Given the description of an element on the screen output the (x, y) to click on. 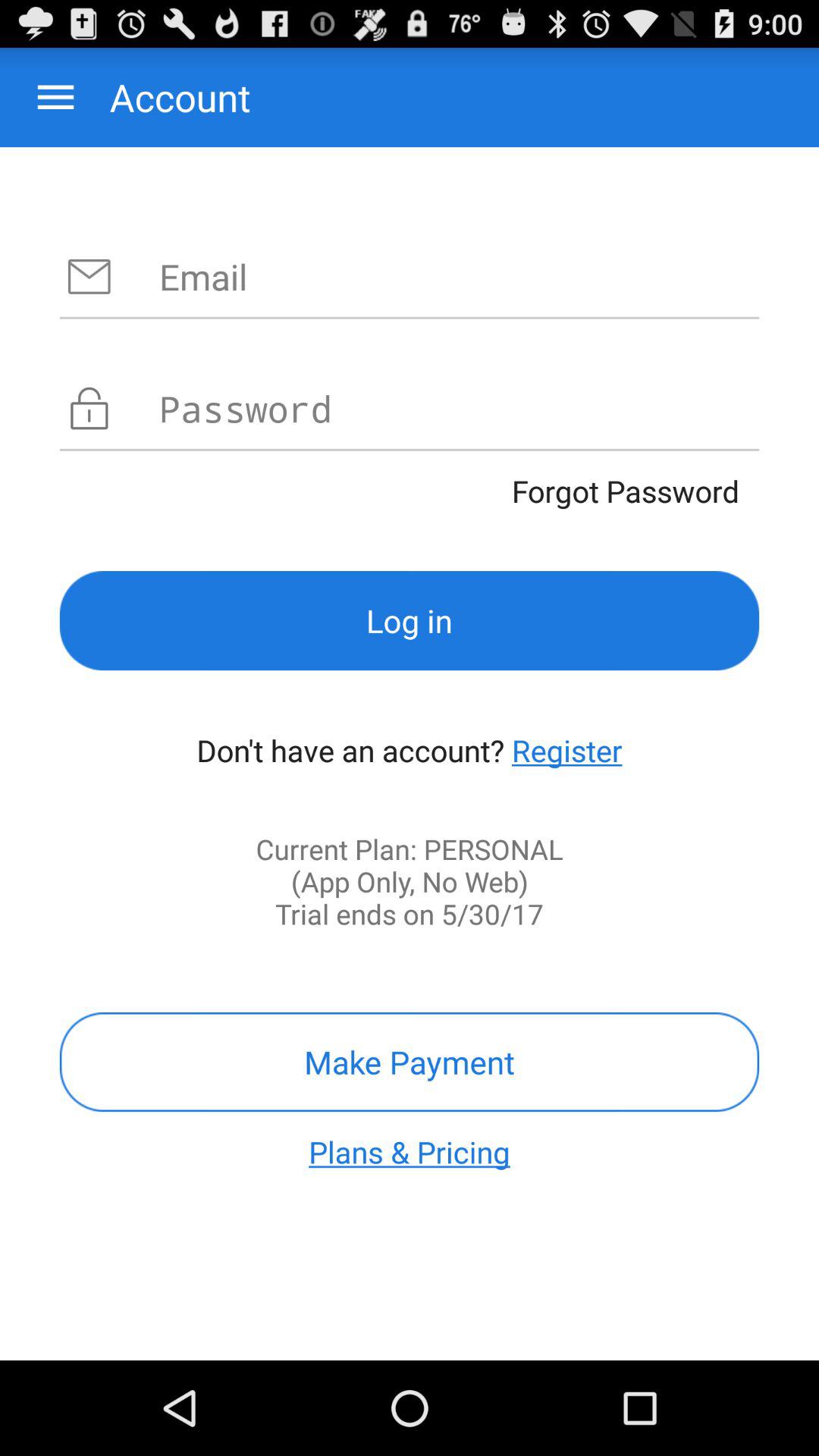
choose the item above the current plan personal icon (566, 750)
